Given the description of an element on the screen output the (x, y) to click on. 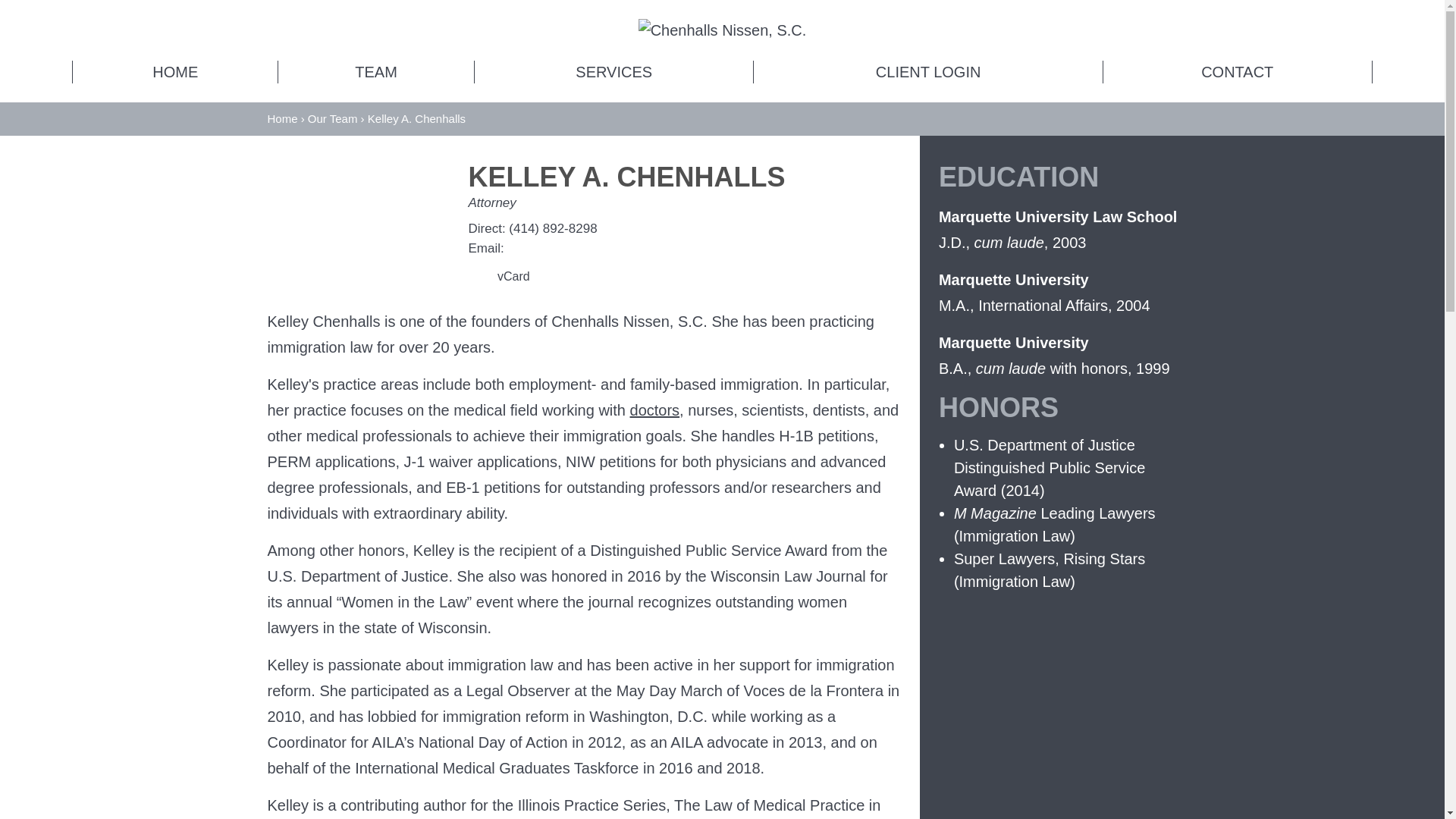
Download Kelley A. Chenhalls's vCard (498, 277)
Click for more Attorney information (492, 202)
HOME (175, 71)
SERVICES (614, 71)
TEAM (376, 71)
